Given the description of an element on the screen output the (x, y) to click on. 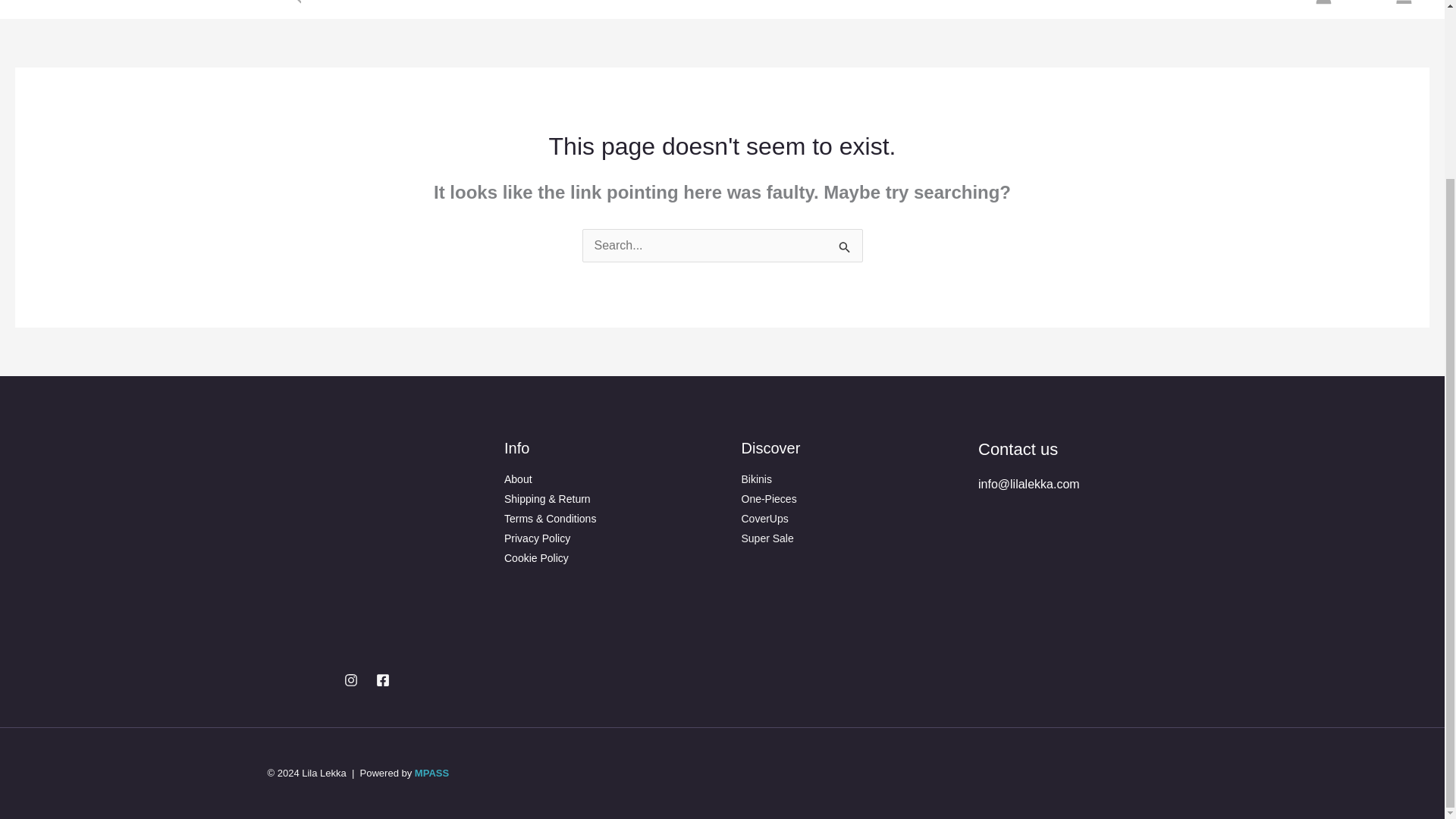
CONTACT (174, 9)
SHOP (243, 9)
Search (844, 247)
ABOUT (109, 9)
Search (844, 247)
HOME (53, 9)
Search (294, 4)
Search (844, 247)
